Given the description of an element on the screen output the (x, y) to click on. 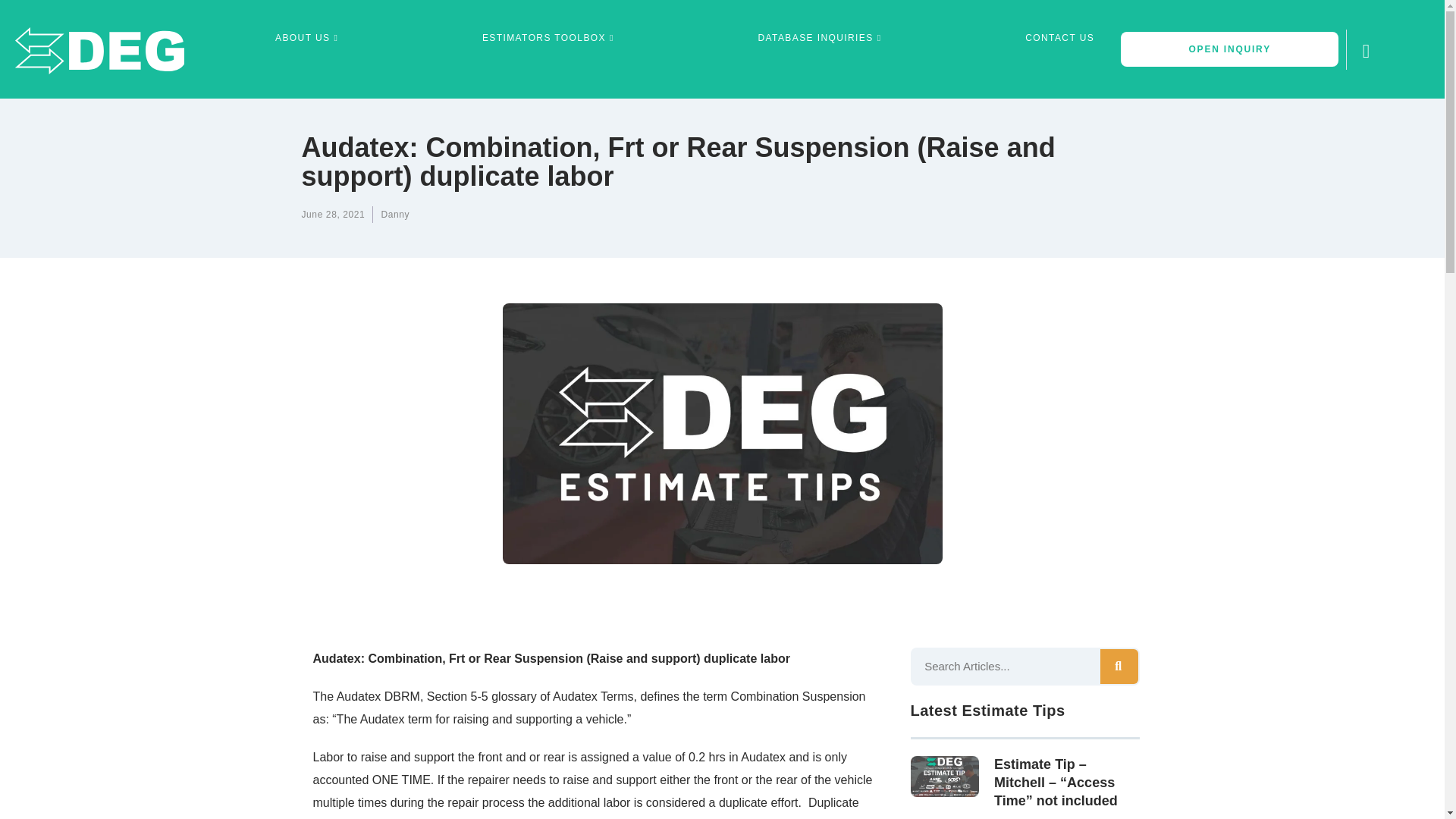
ABOUT US (308, 37)
DATABASE INQUIRIES (822, 37)
CONTACT US (1059, 37)
ESTIMATORS TOOLBOX (550, 37)
